Given the description of an element on the screen output the (x, y) to click on. 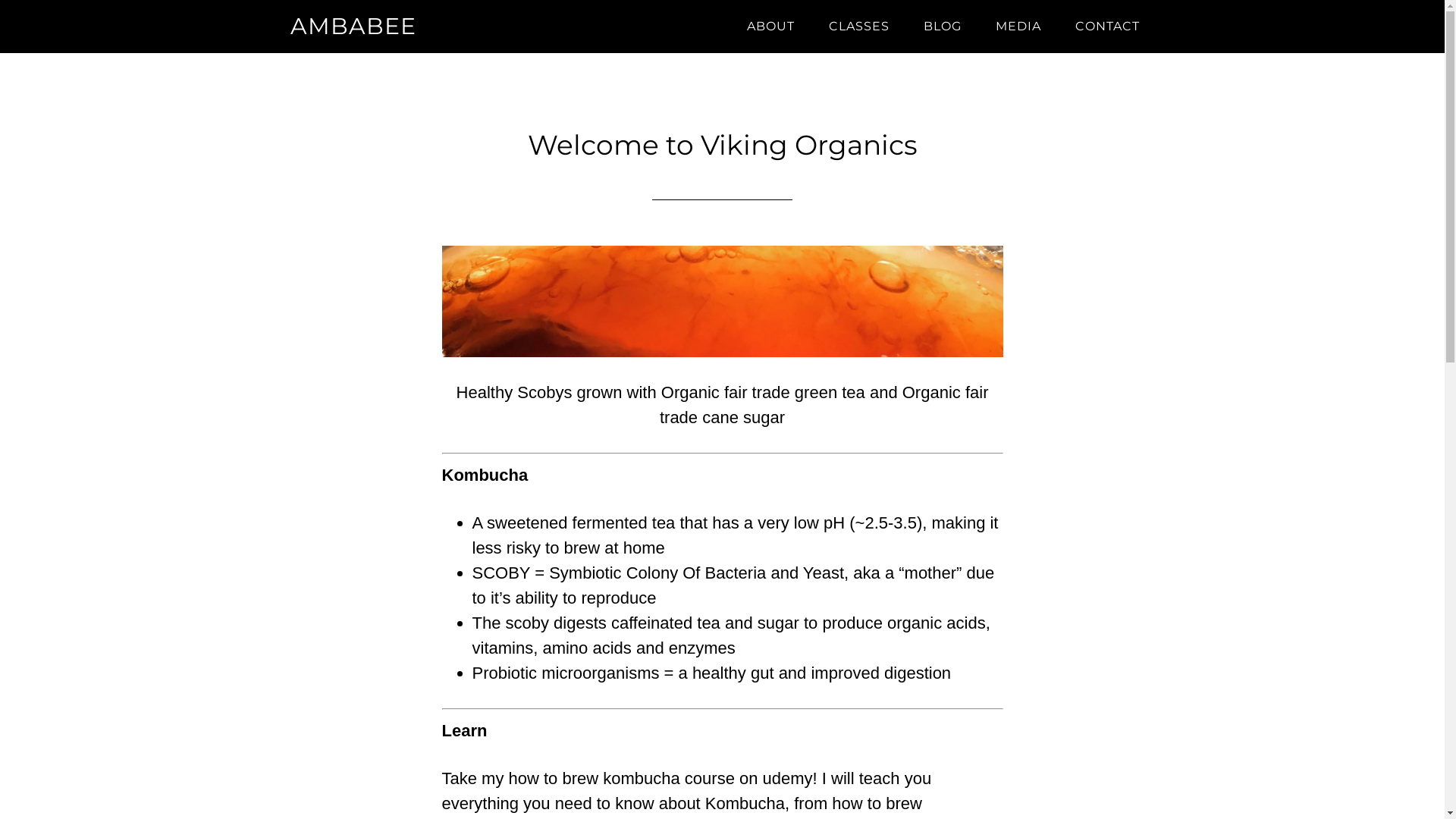
CLASSES Element type: text (857, 26)
AMBABEE Element type: text (352, 26)
MEDIA Element type: text (1017, 26)
ABOUT Element type: text (770, 26)
CONTACT Element type: text (1107, 26)
BLOG Element type: text (942, 26)
